Given the description of an element on the screen output the (x, y) to click on. 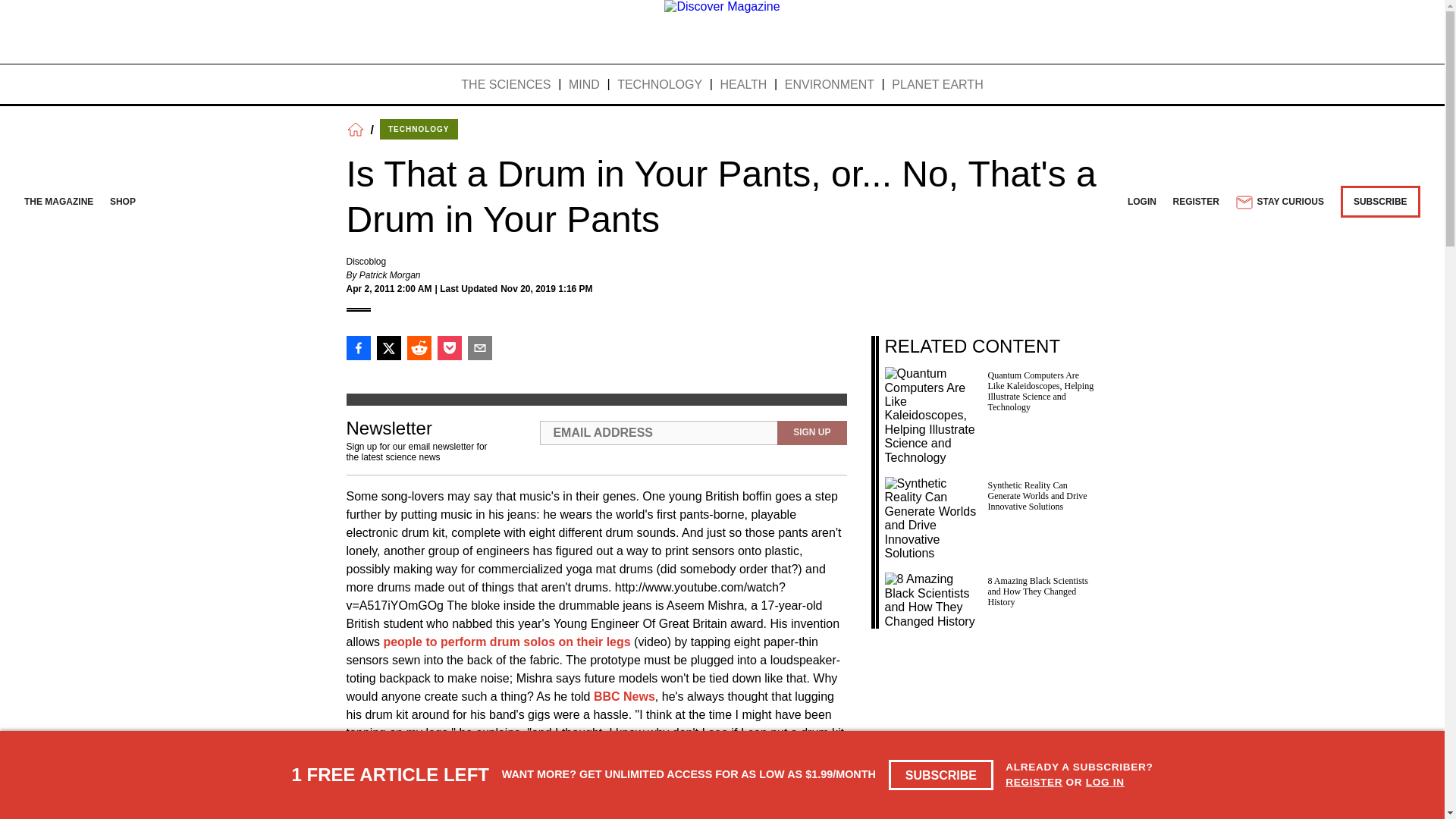
microelectromechanical systems (441, 787)
LOGIN (1141, 201)
Discoblog (365, 261)
SHOP (122, 201)
MIND (584, 84)
PLANET EARTH (936, 84)
SIGN UP (811, 432)
people to perform drum solos on their legs (506, 641)
REGISTER (1034, 781)
REGISTER (1196, 201)
